Given the description of an element on the screen output the (x, y) to click on. 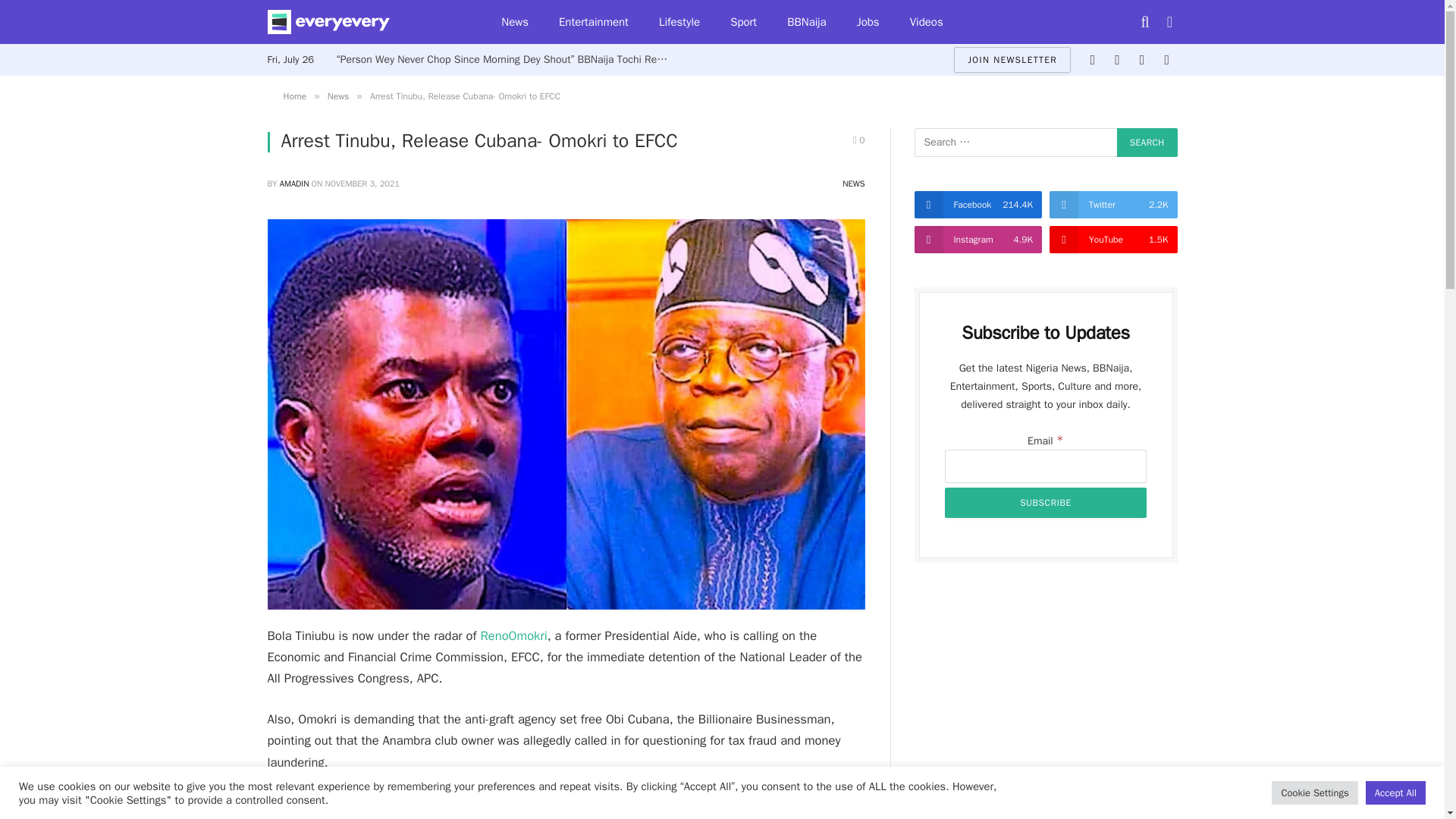
Instagram (1142, 60)
Search (1146, 142)
2021-11-03 (361, 183)
Search (1146, 142)
news (514, 22)
EveryEvery (327, 21)
BBNaija (806, 22)
Switch to Dark Design - easier on eyes. (1167, 21)
YouTube (1166, 60)
Facebook (1092, 60)
JOIN NEWSLETTER (1011, 59)
Posts by Amadin (293, 183)
Sport (742, 22)
Lifestyle (678, 22)
